Given the description of an element on the screen output the (x, y) to click on. 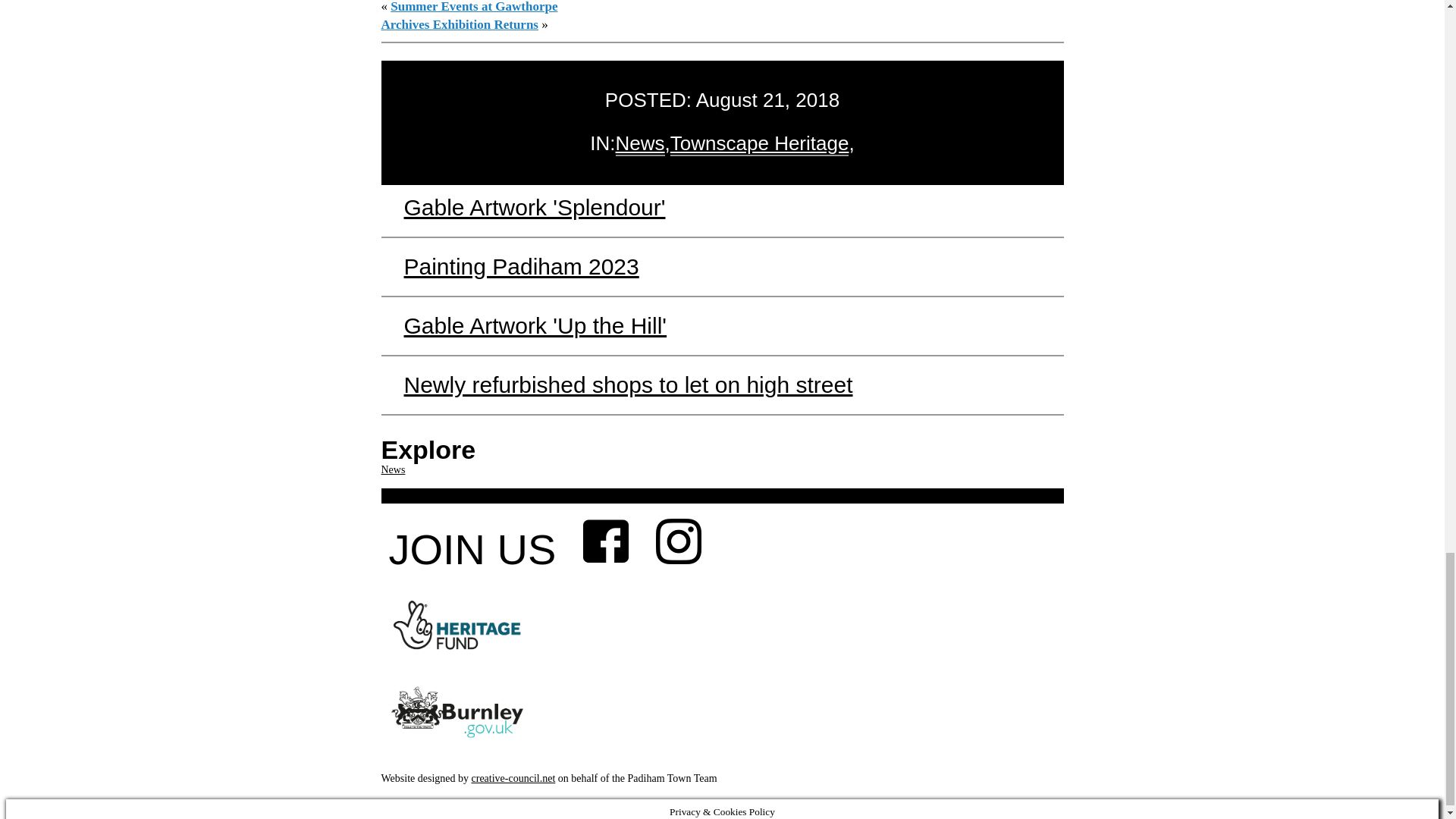
Newly refurbished shops to let on high street (627, 384)
Summer Events at Gawthorpe (473, 6)
Gable Artwork 'Up the Hill' (534, 325)
News (640, 142)
creative-council.net (513, 778)
Gable Artwork 'Splendour' (534, 207)
Painting Padiham 2023 (521, 266)
Archives Exhibition Returns (459, 24)
News (392, 469)
Townscape Heritage (758, 142)
